Given the description of an element on the screen output the (x, y) to click on. 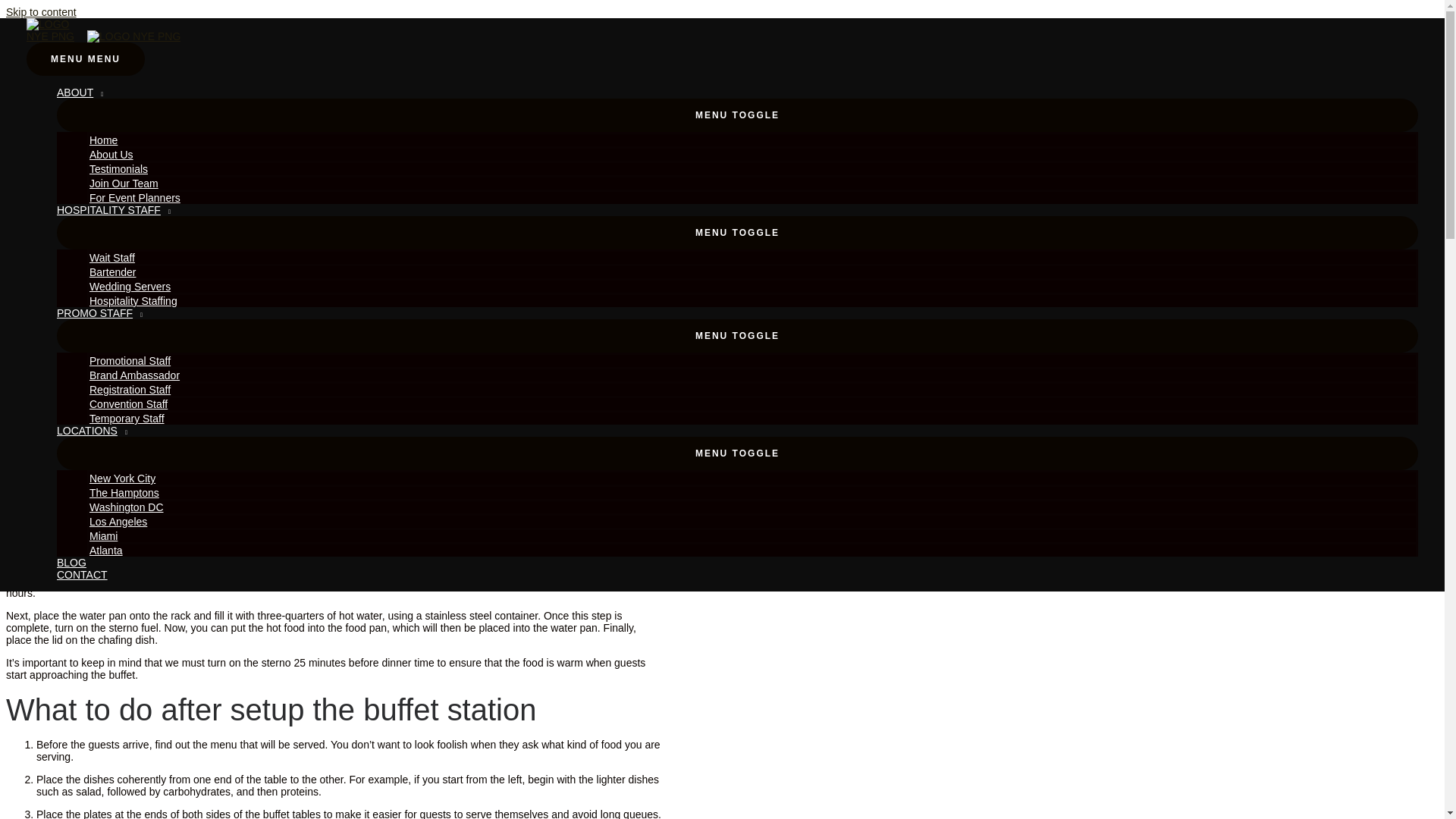
View all posts by Amanda (124, 25)
Amanda (124, 25)
